Given the description of an element on the screen output the (x, y) to click on. 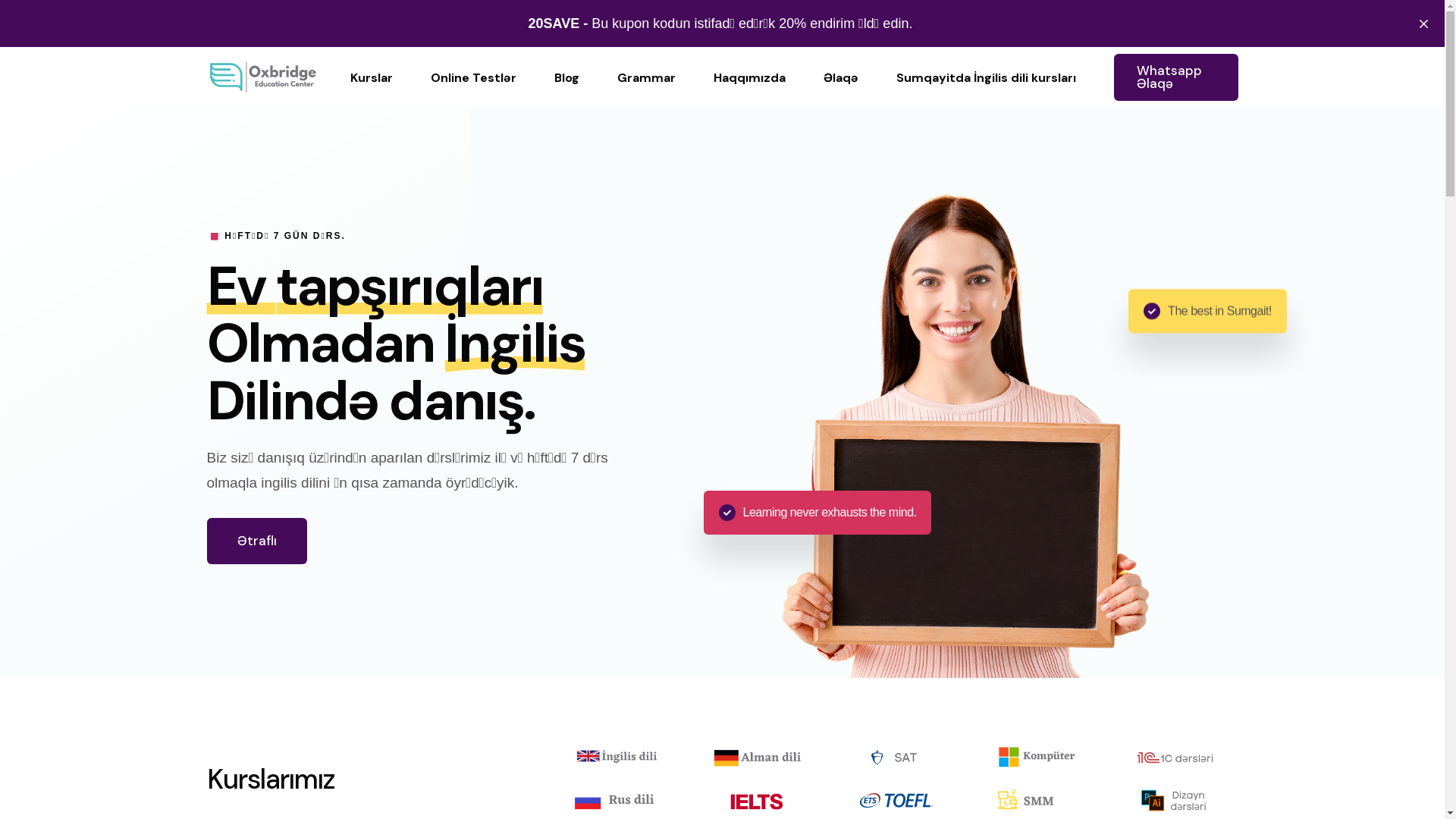
Blog Element type: text (566, 77)
Grammar Element type: text (645, 77)
Kurslar Element type: text (370, 77)
